Given the description of an element on the screen output the (x, y) to click on. 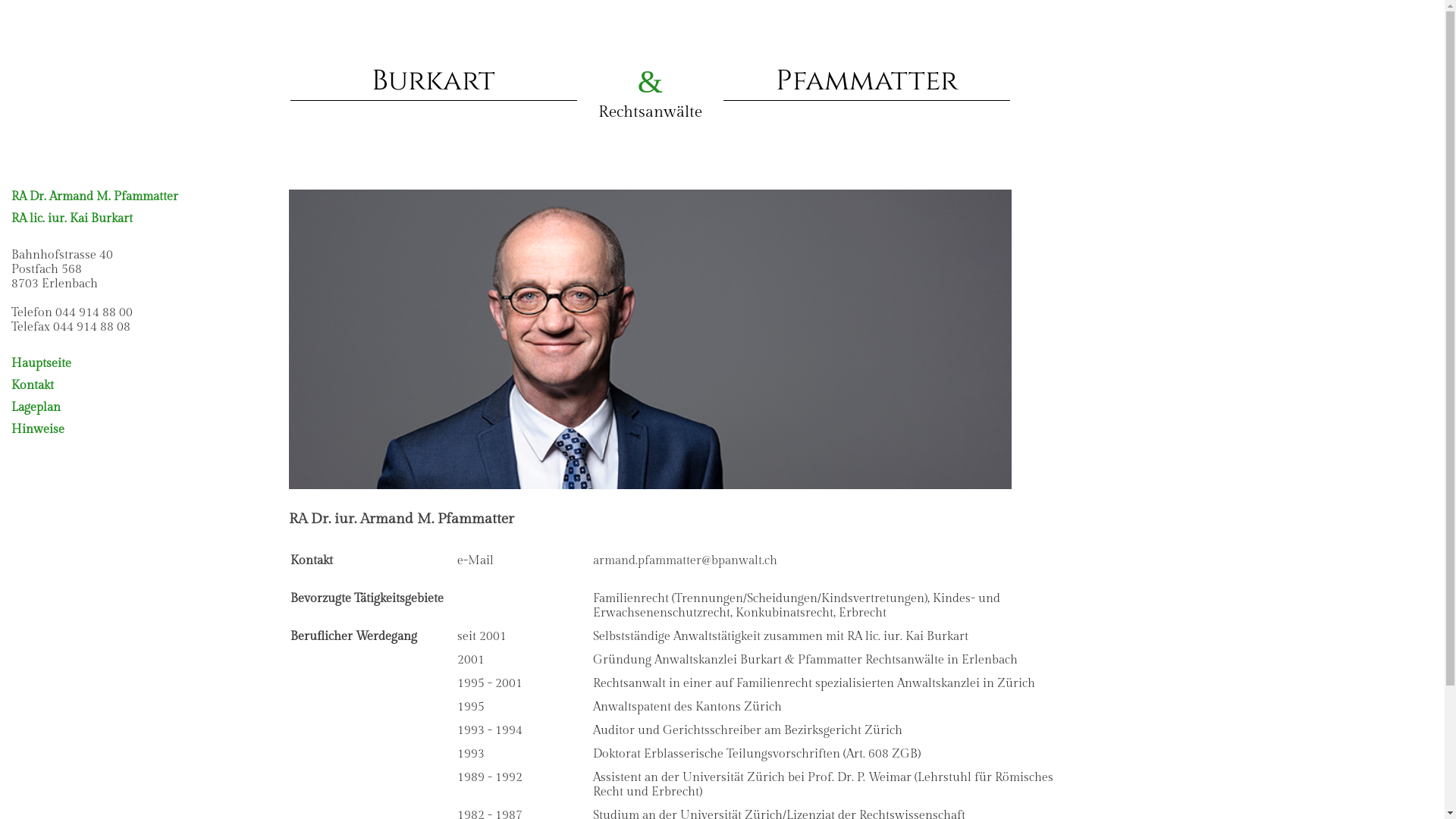
armand.pfammatter@bpanwalt.ch Element type: text (685, 560)
RA lic. iur. Kai Burkart Element type: text (71, 218)
Lageplan Element type: text (144, 411)
Kontakt Element type: text (144, 389)
Hauptseite Element type: text (144, 367)
RA Dr. Armand M. Pfammatter Element type: text (94, 196)
Hinweise Element type: text (144, 433)
